Given the description of an element on the screen output the (x, y) to click on. 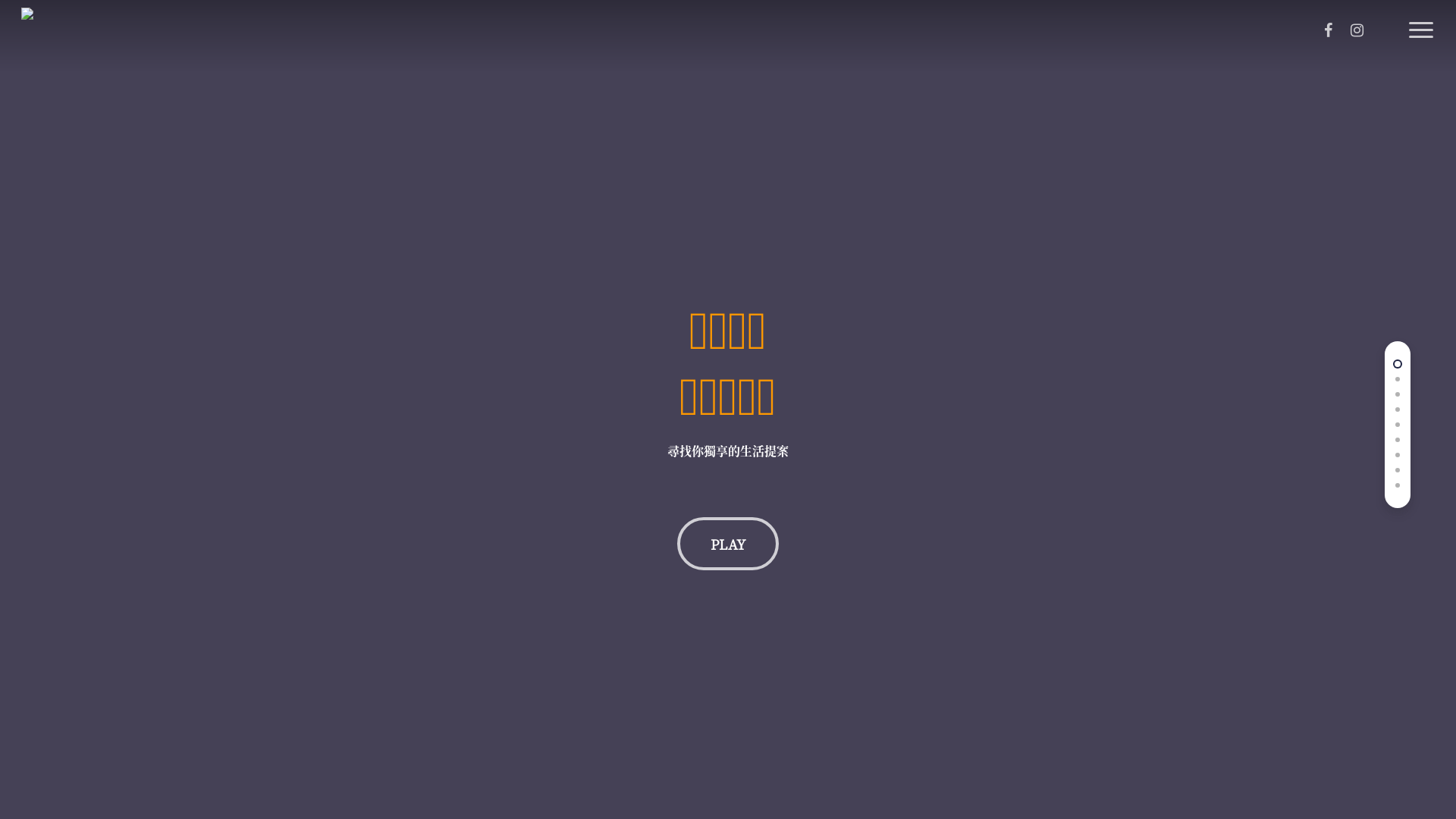
facebook Element type: text (1327, 30)
PLAY Element type: text (727, 543)
instagram Element type: text (1356, 30)
Menu Element type: text (1420, 7)
